Given the description of an element on the screen output the (x, y) to click on. 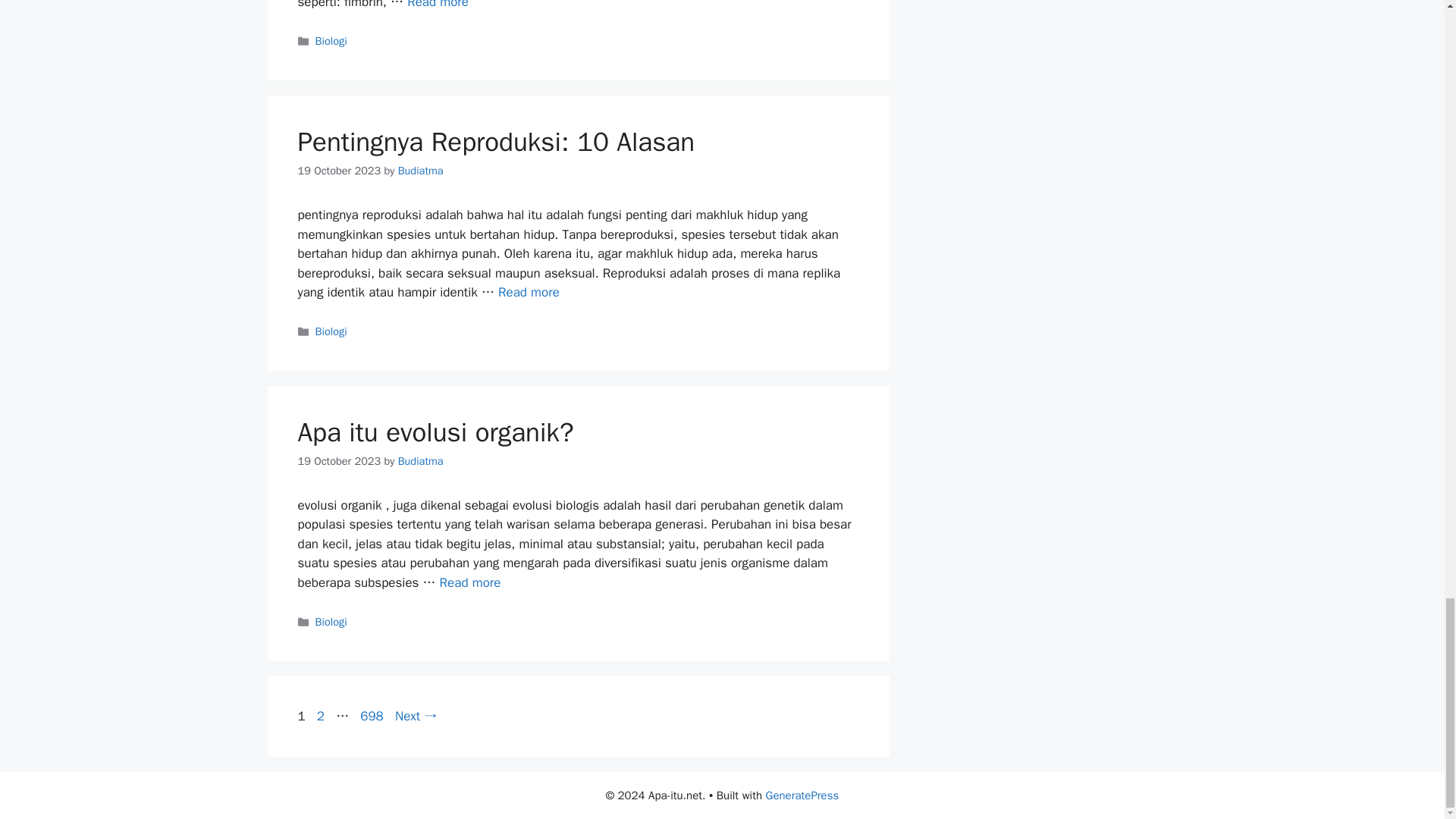
Apa itu mikrovili? (437, 4)
